Given the description of an element on the screen output the (x, y) to click on. 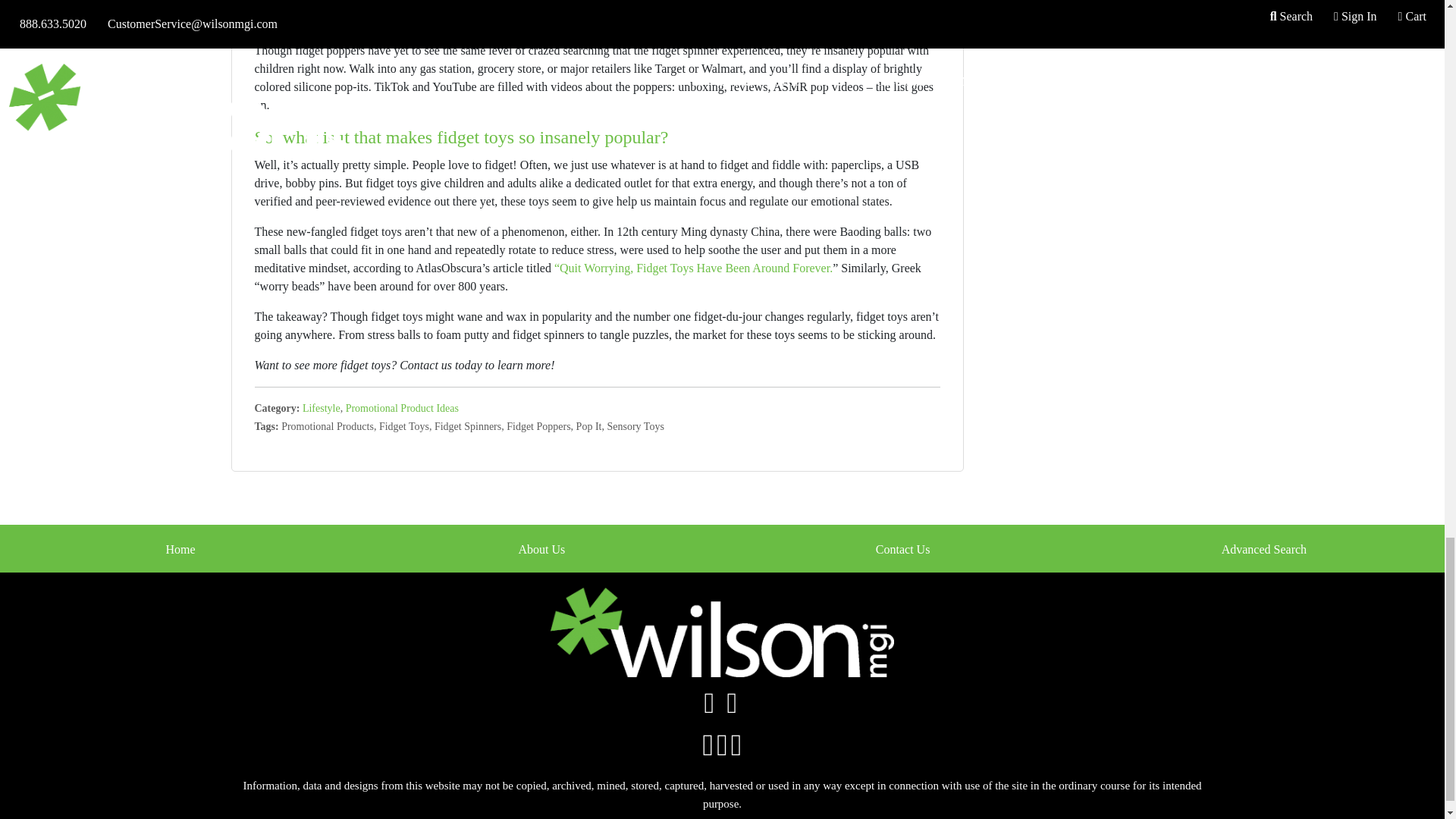
Visit us on Facebook (709, 707)
Lifestyle (321, 408)
Visit us on LinkedIn (731, 707)
Promotional Product Ideas (402, 408)
